Given the description of an element on the screen output the (x, y) to click on. 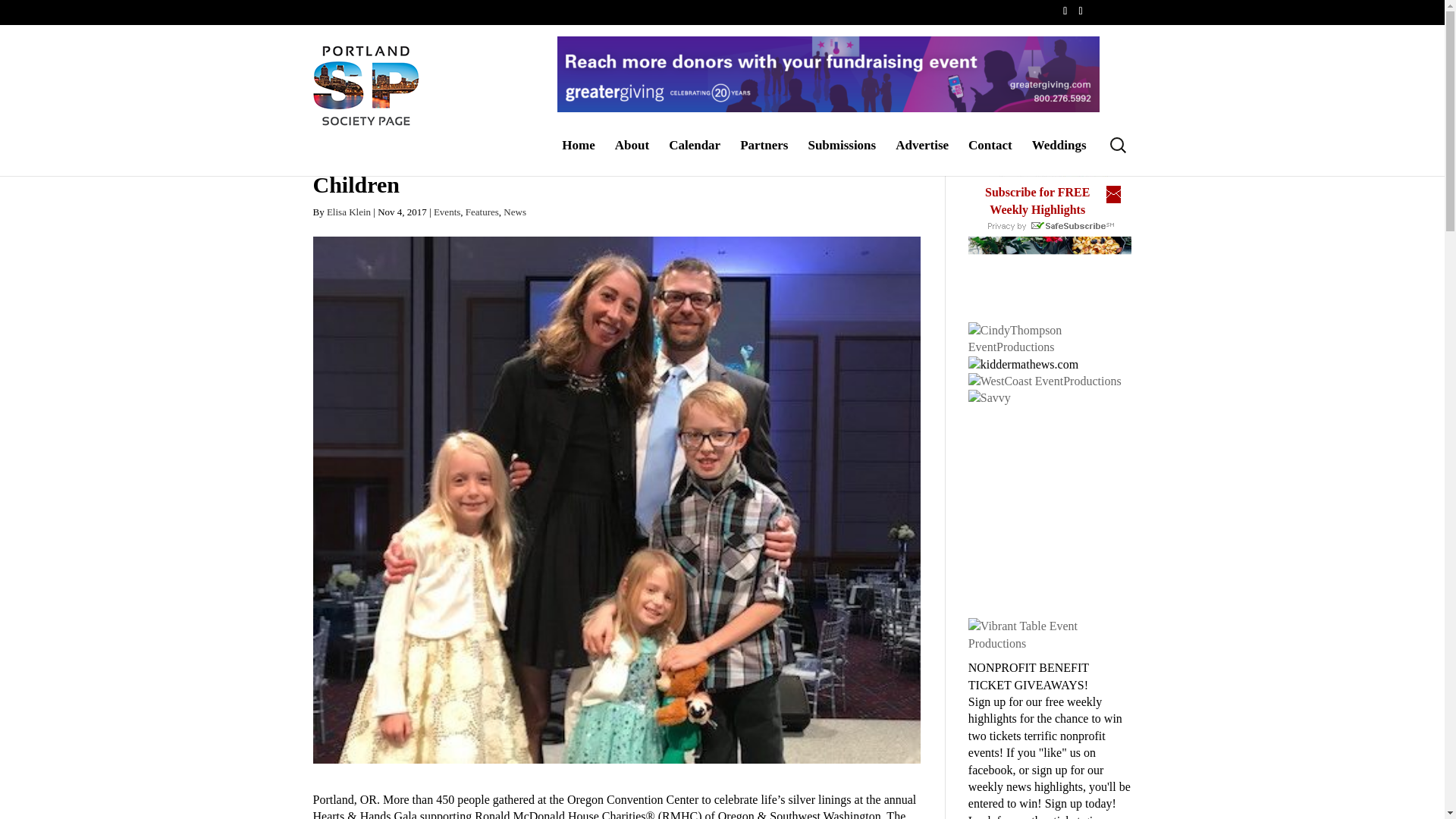
Elisa Klein (348, 211)
Contact (989, 157)
Advertise (922, 157)
Partners (763, 157)
Events (446, 211)
About (631, 157)
Calendar (694, 157)
Features (482, 211)
Subscribe for FREE Weekly Highlights (1037, 200)
Submissions (842, 157)
